Given the description of an element on the screen output the (x, y) to click on. 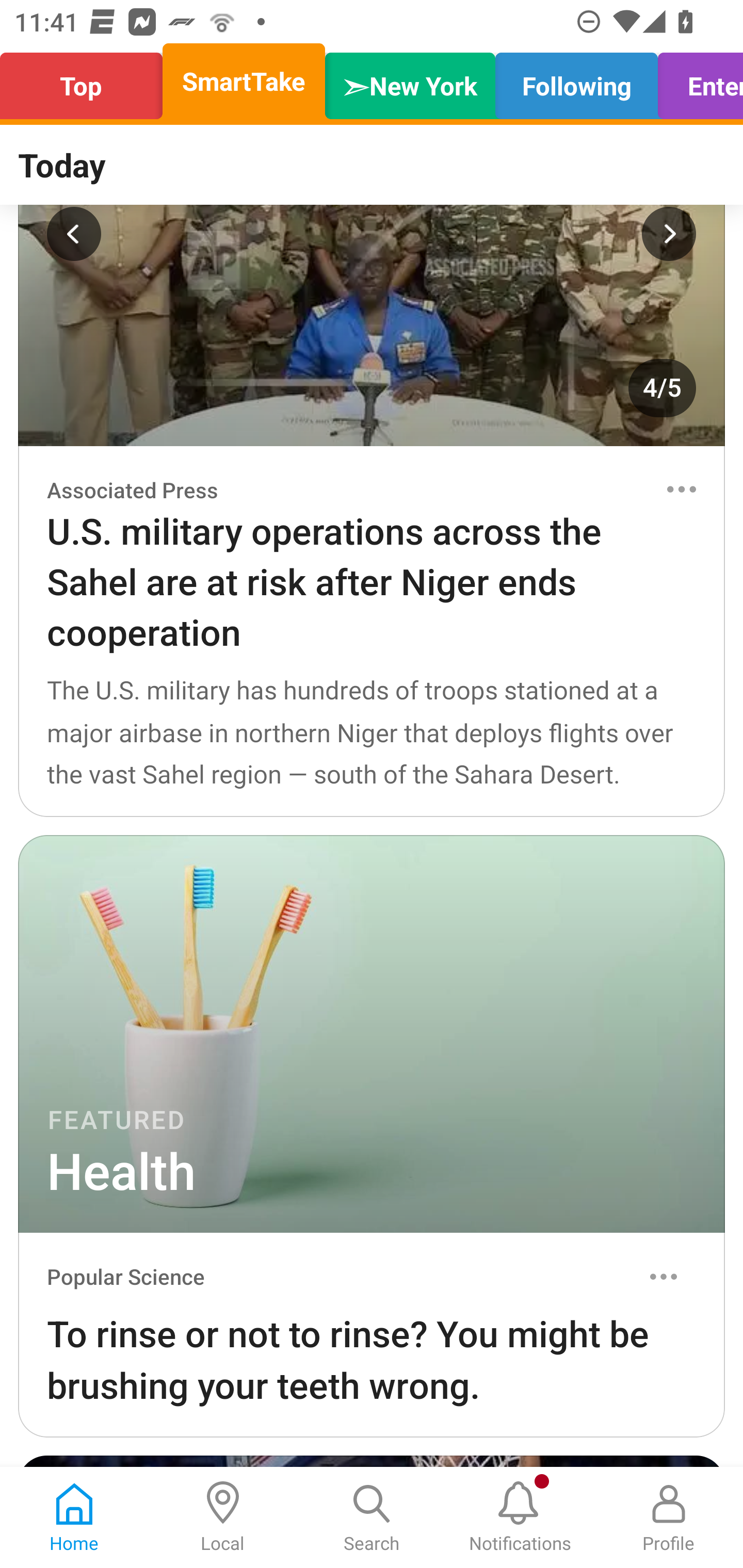
Top (86, 81)
SmartTake (243, 81)
➣New York (409, 81)
Following (576, 81)
Options (681, 489)
Options (663, 1276)
Local (222, 1517)
Search (371, 1517)
Notifications, New notification Notifications (519, 1517)
Profile (668, 1517)
